Given the description of an element on the screen output the (x, y) to click on. 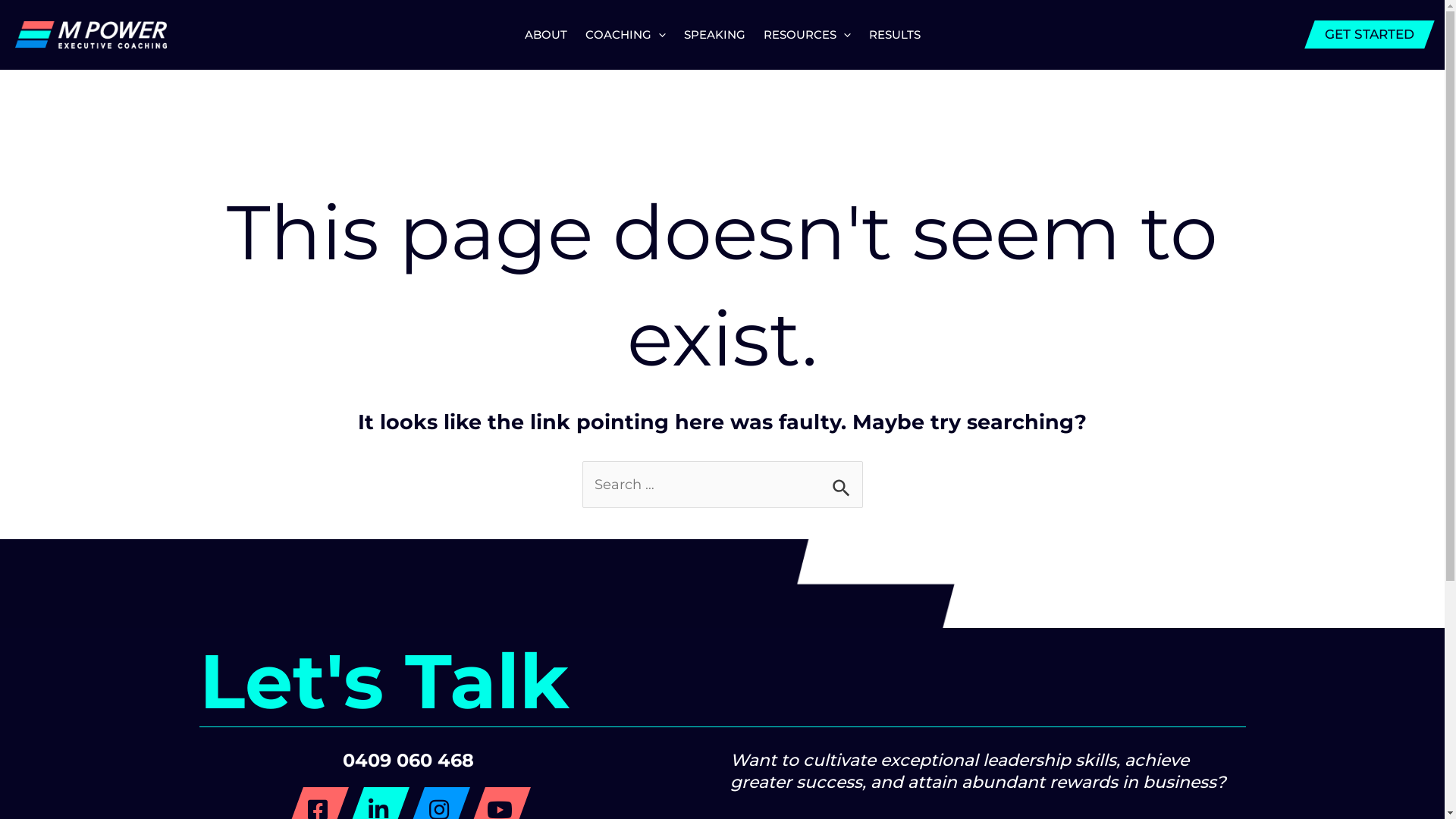
ABOUT Element type: text (545, 34)
Search Element type: text (845, 480)
SPEAKING Element type: text (714, 34)
RESOURCES Element type: text (806, 34)
COACHING Element type: text (625, 34)
RESULTS Element type: text (894, 34)
GET STARTED Element type: text (1364, 34)
0409 060 468 Element type: text (407, 760)
